Given the description of an element on the screen output the (x, y) to click on. 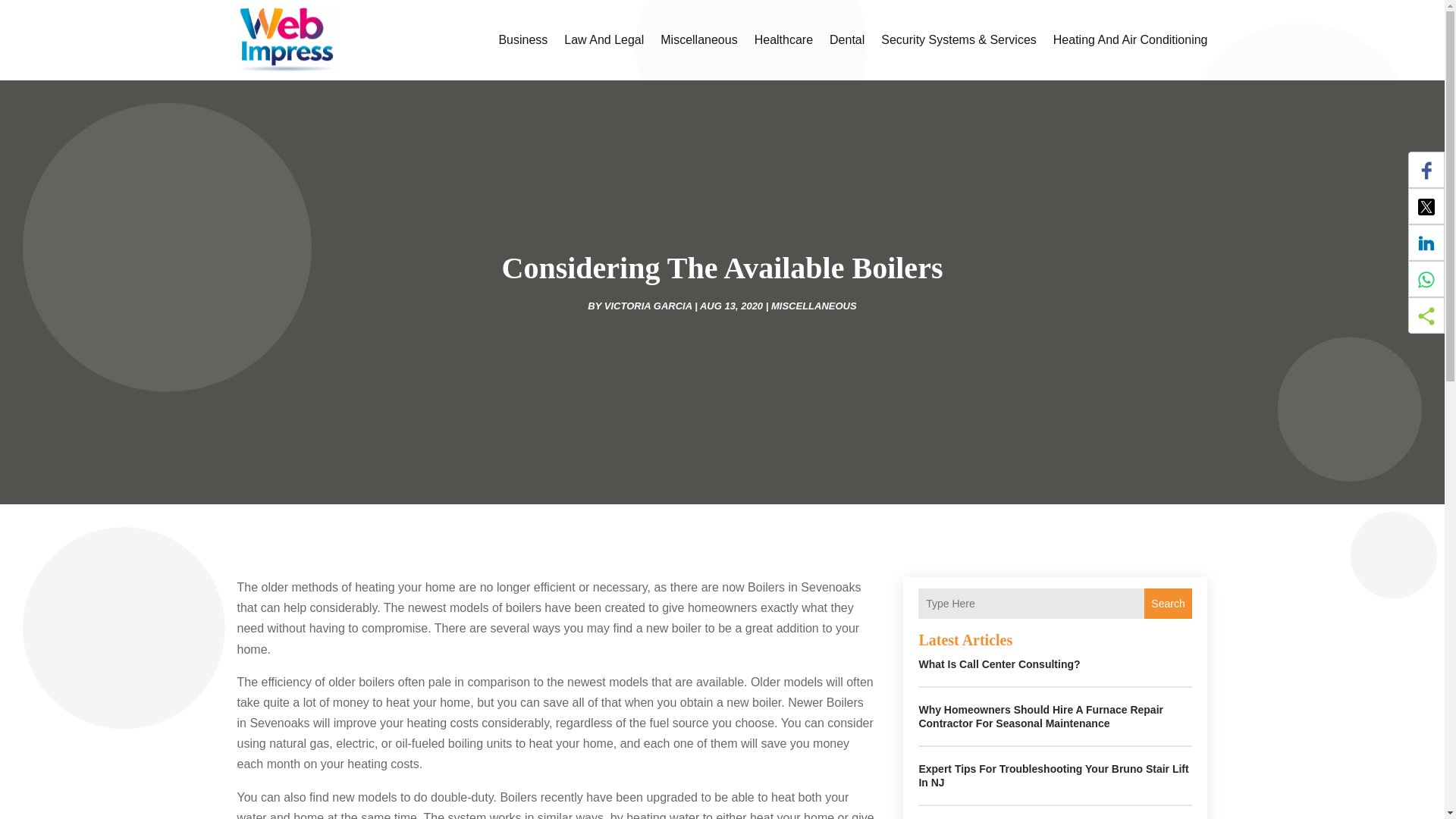
VICTORIA GARCIA (648, 306)
Miscellaneous (698, 39)
Law And Legal (603, 39)
Posts by Victoria Garcia (648, 306)
Healthcare (783, 39)
Search (1168, 603)
MISCELLANEOUS (814, 306)
Dental (846, 39)
What Is Call Center Consulting? (999, 664)
Heating And Air Conditioning (1130, 39)
Business (522, 39)
Expert Tips For Troubleshooting Your Bruno Stair Lift In NJ (1053, 775)
